Given the description of an element on the screen output the (x, y) to click on. 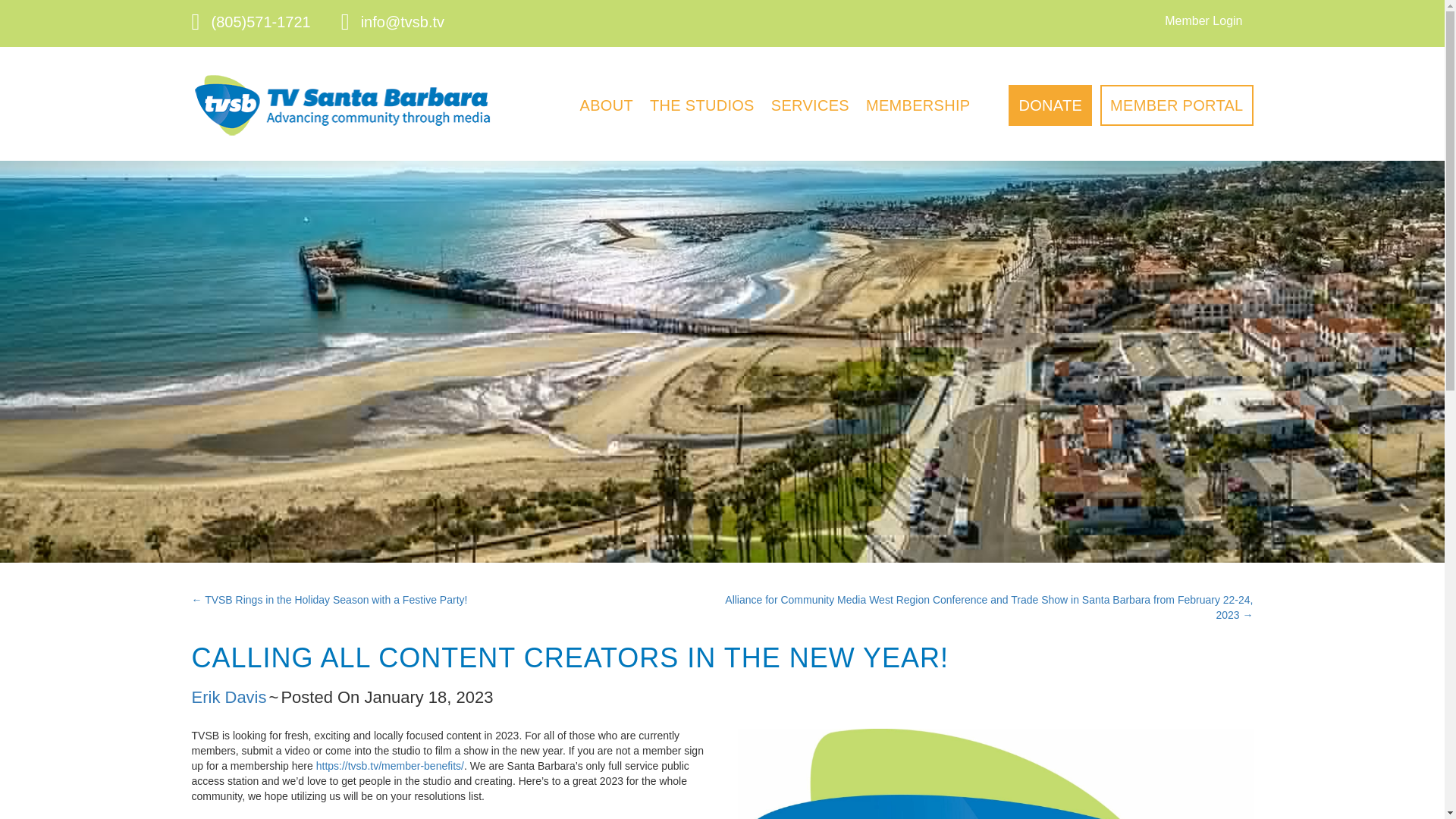
MEMBER PORTAL (1176, 105)
DONATE (1050, 105)
Member Login (1203, 20)
SERVICES (809, 105)
MEMBERSHIP (916, 105)
ABOUT (606, 105)
THE STUDIOS (701, 105)
Erik Davis (228, 696)
tvsb-logo (341, 105)
